Given the description of an element on the screen output the (x, y) to click on. 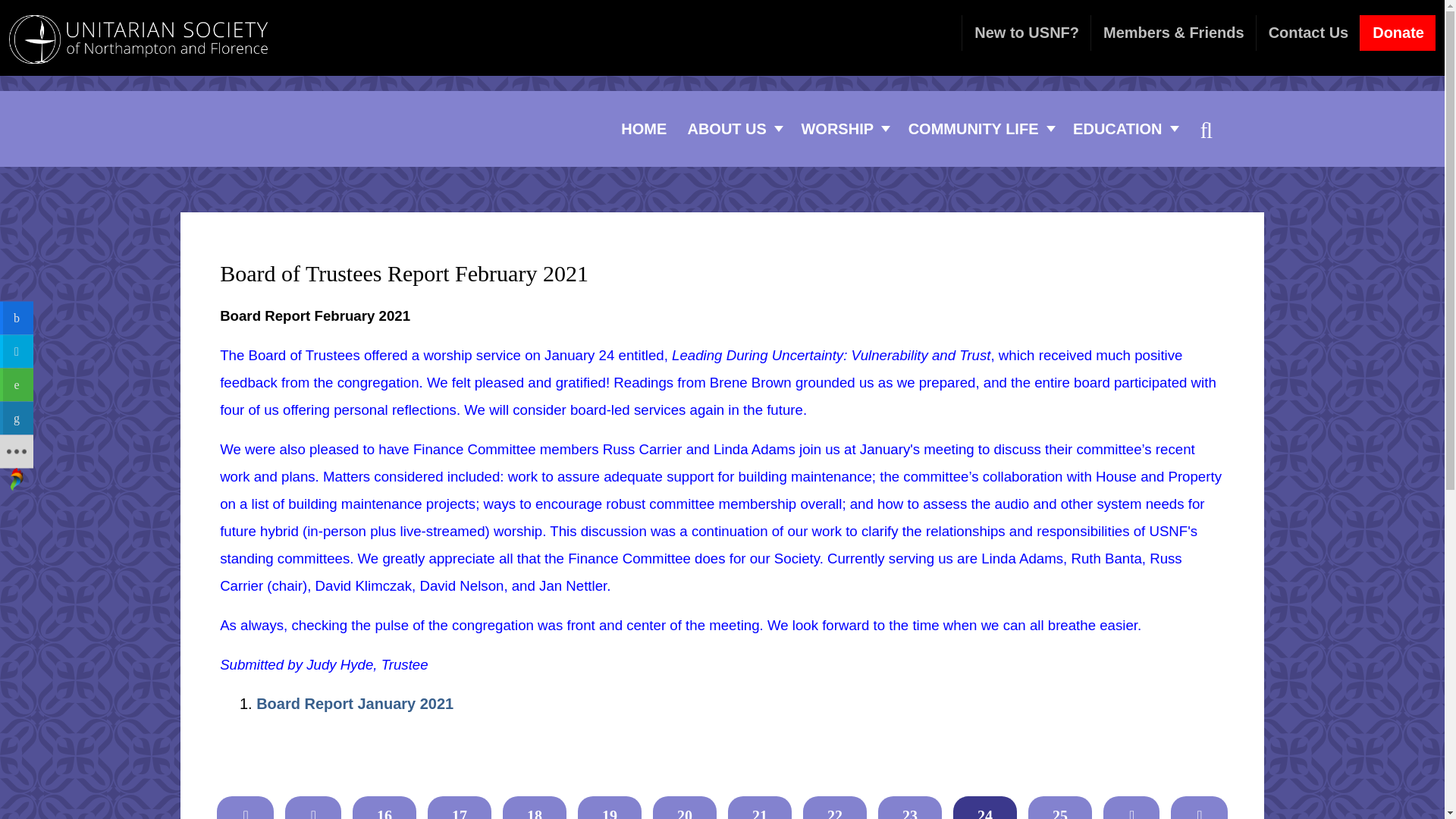
New to USNF? (1025, 32)
Contact Us (911, 128)
HOME (1307, 32)
Donate (644, 128)
